Given the description of an element on the screen output the (x, y) to click on. 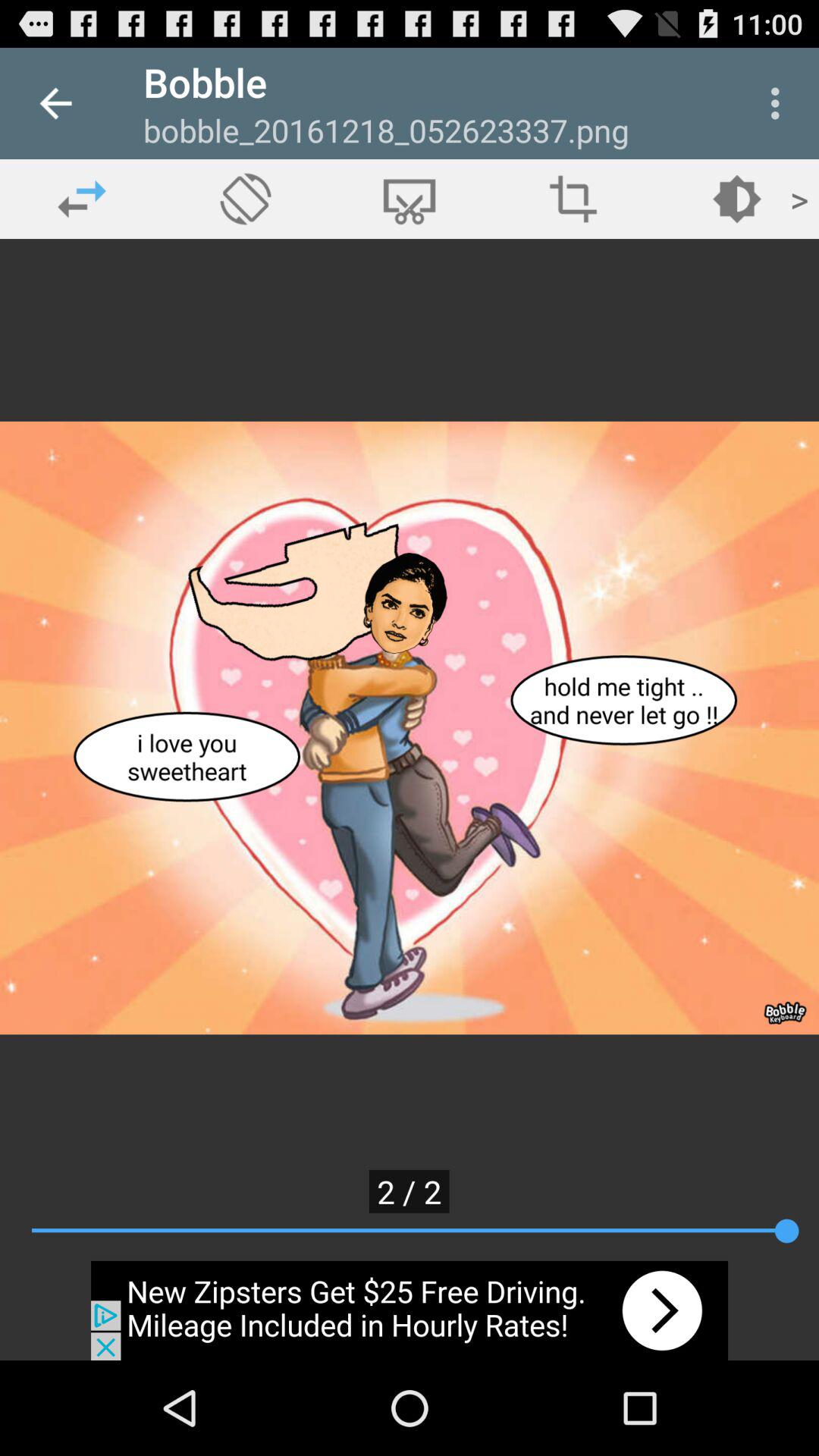
enable auto rotate (245, 198)
